Given the description of an element on the screen output the (x, y) to click on. 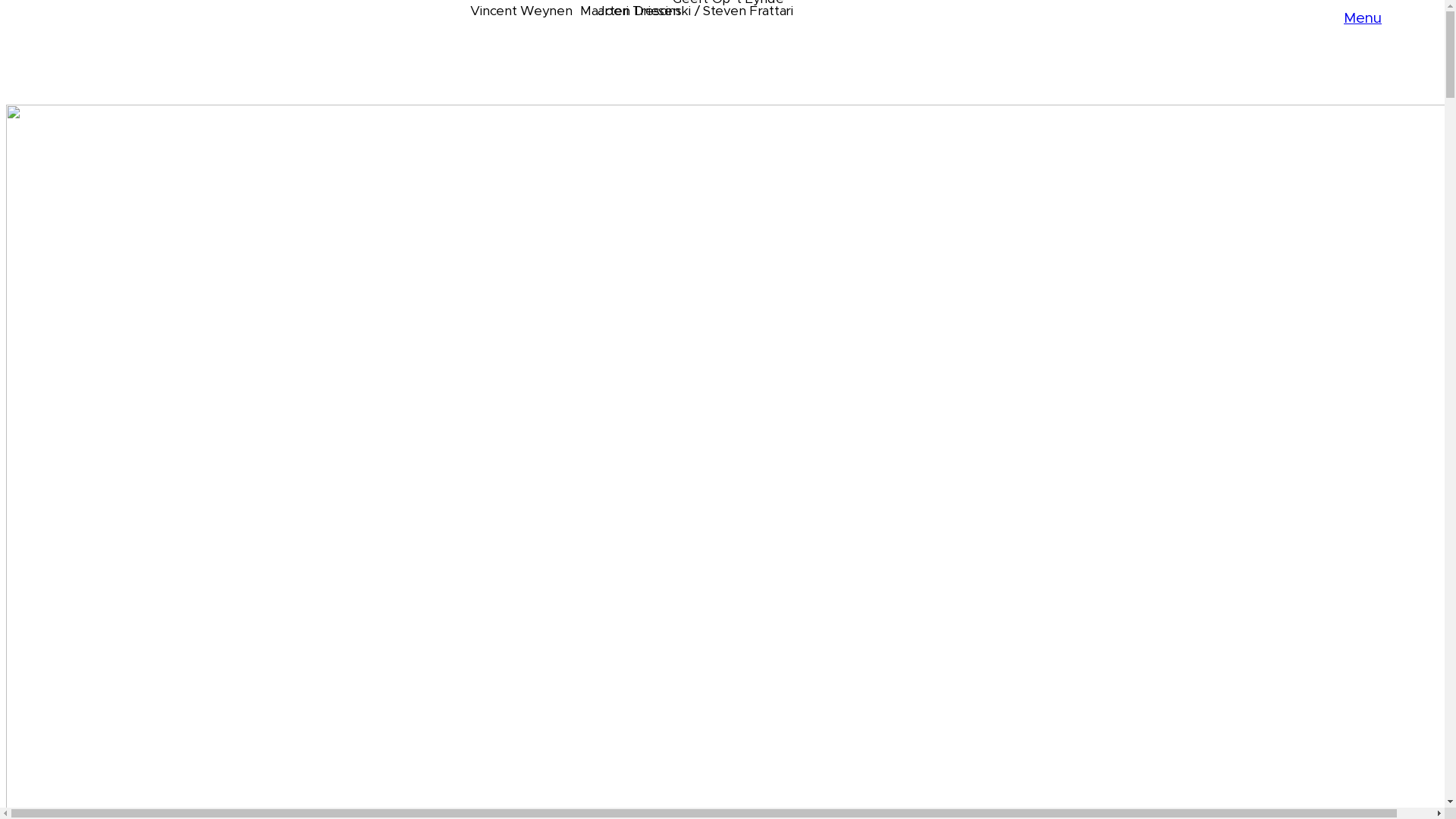
Menu Element type: text (1362, 17)
